Given the description of an element on the screen output the (x, y) to click on. 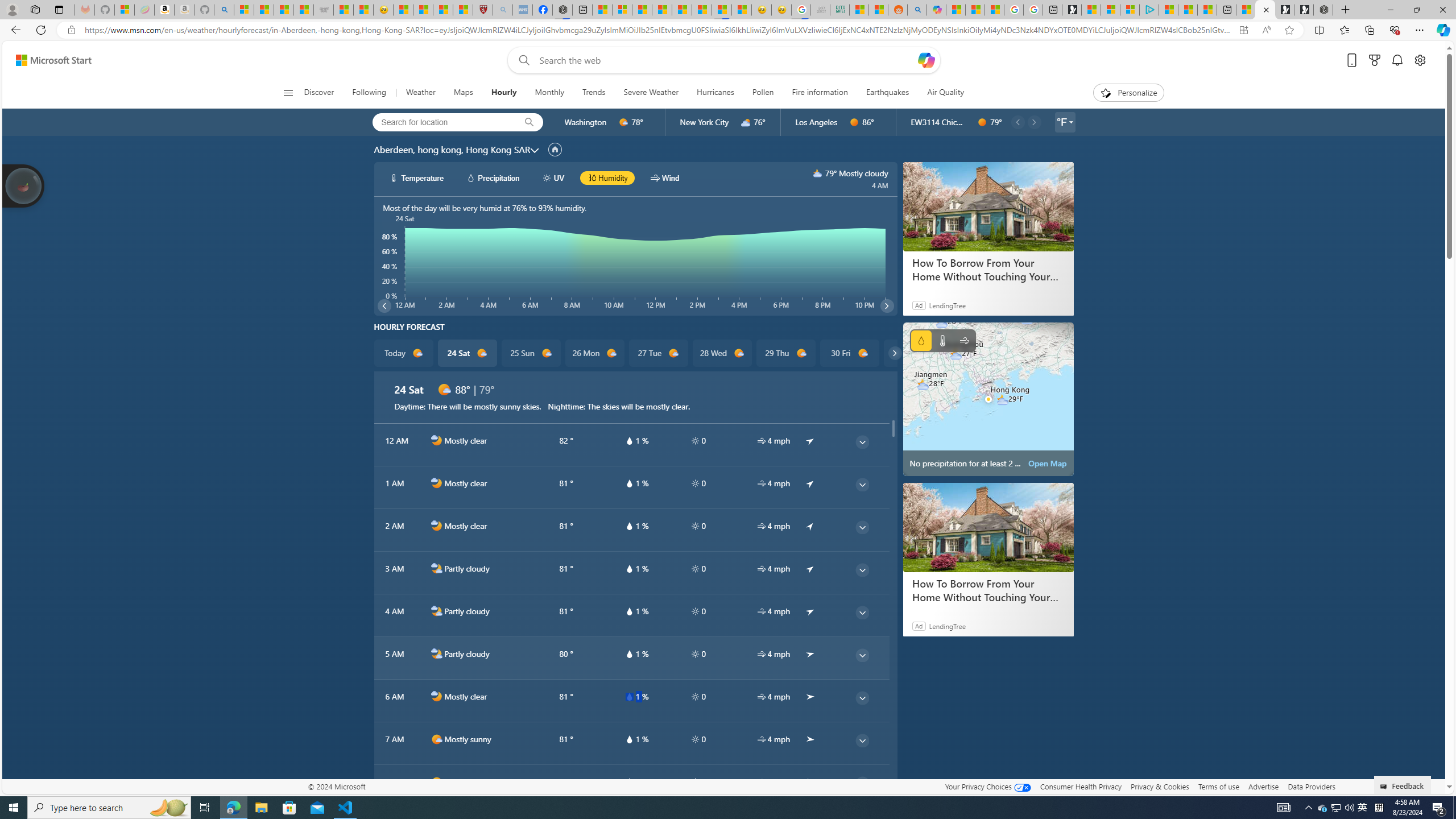
App available. Install Microsoft Start Weather (1243, 29)
n2000 (436, 654)
locationBar/triangle (1070, 122)
hourlyTable/wind (761, 782)
static map image of vector map (988, 398)
Class: feedback_link_icon-DS-EntryPoint1-1 (1384, 786)
Join us in planting real trees to help our planet! (23, 184)
Monthly (549, 92)
